Given the description of an element on the screen output the (x, y) to click on. 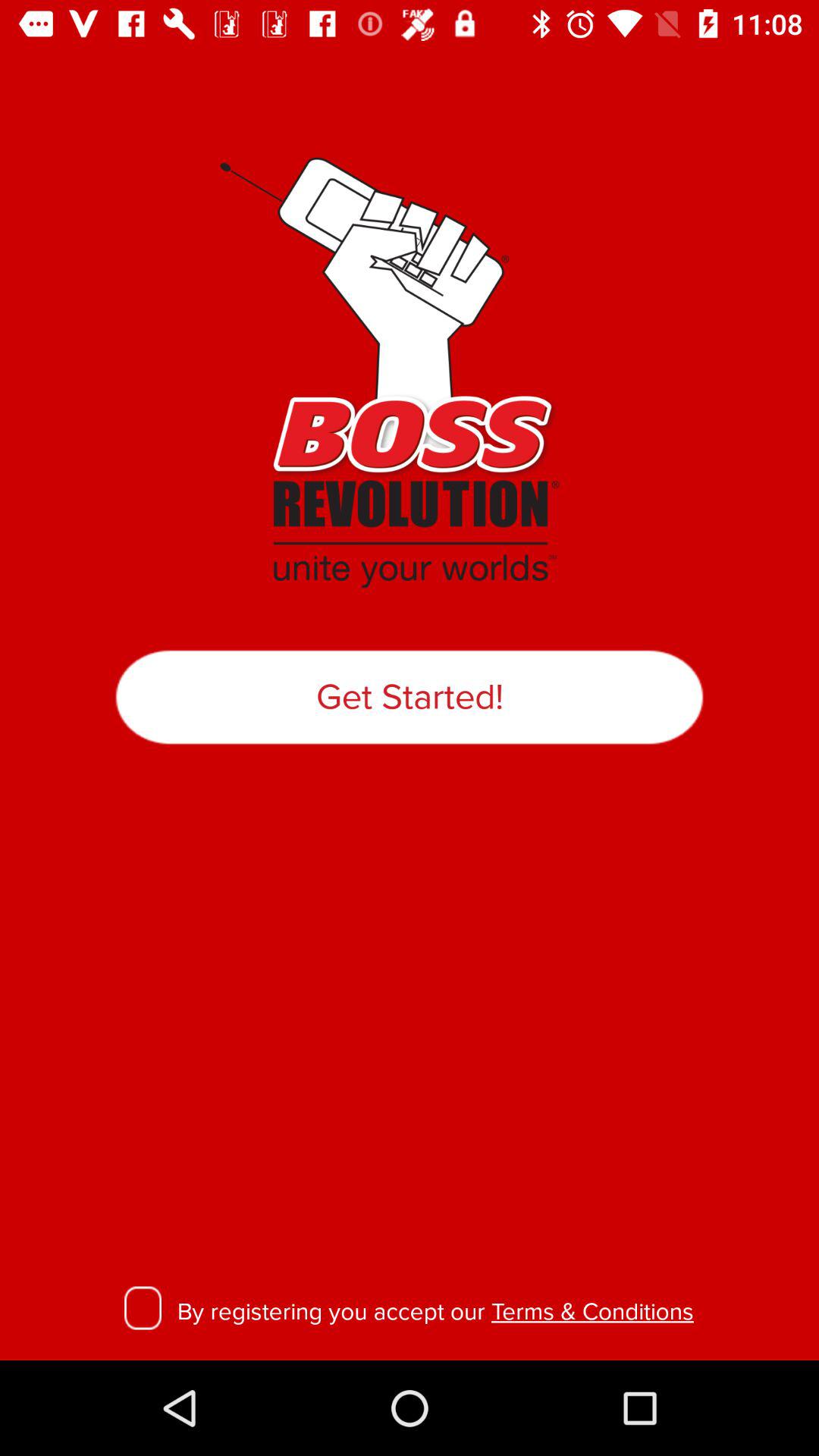
scroll to the get started! (409, 697)
